Given the description of an element on the screen output the (x, y) to click on. 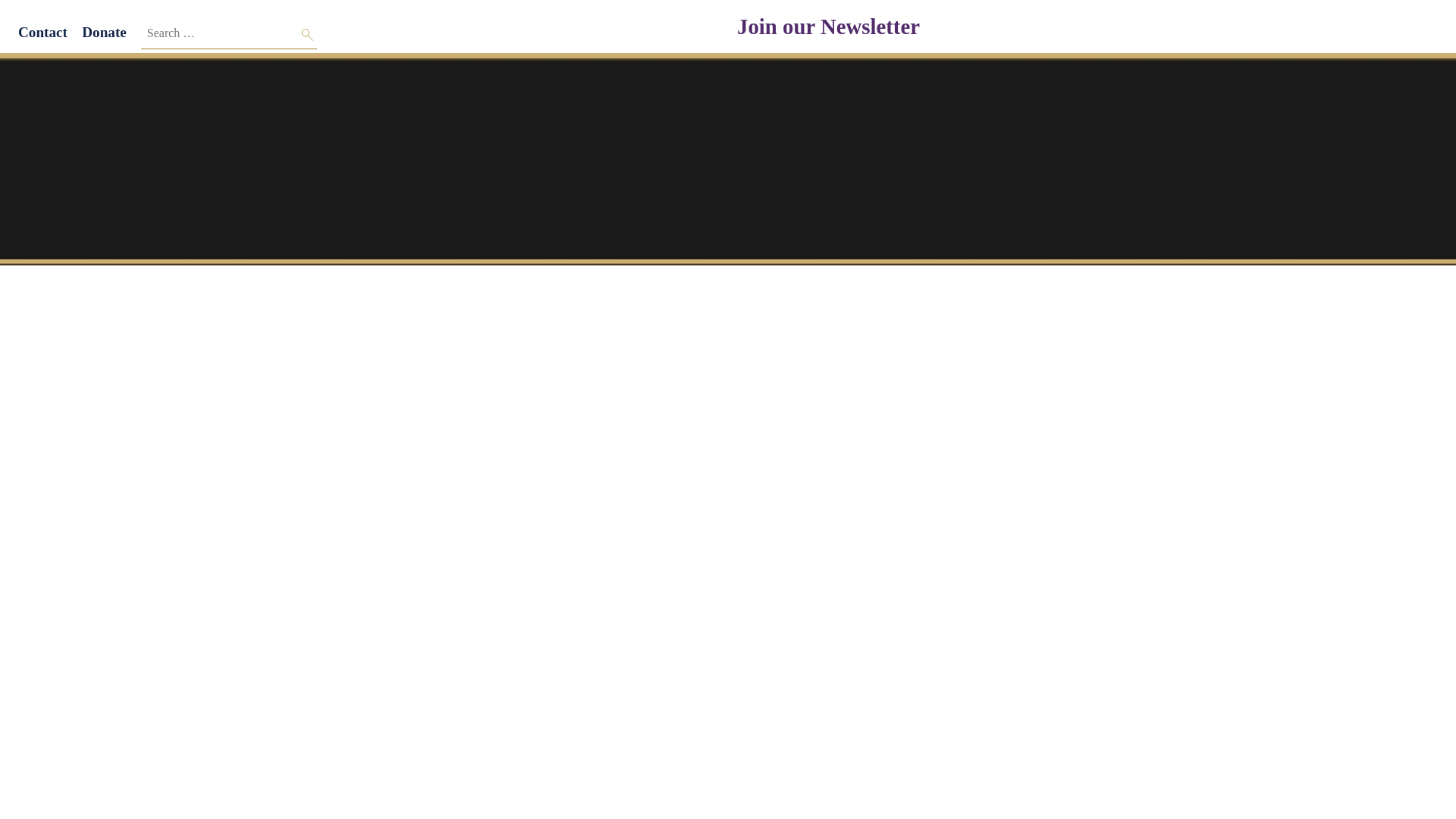
Donate (103, 32)
Search (307, 34)
Contact (41, 32)
